Given the description of an element on the screen output the (x, y) to click on. 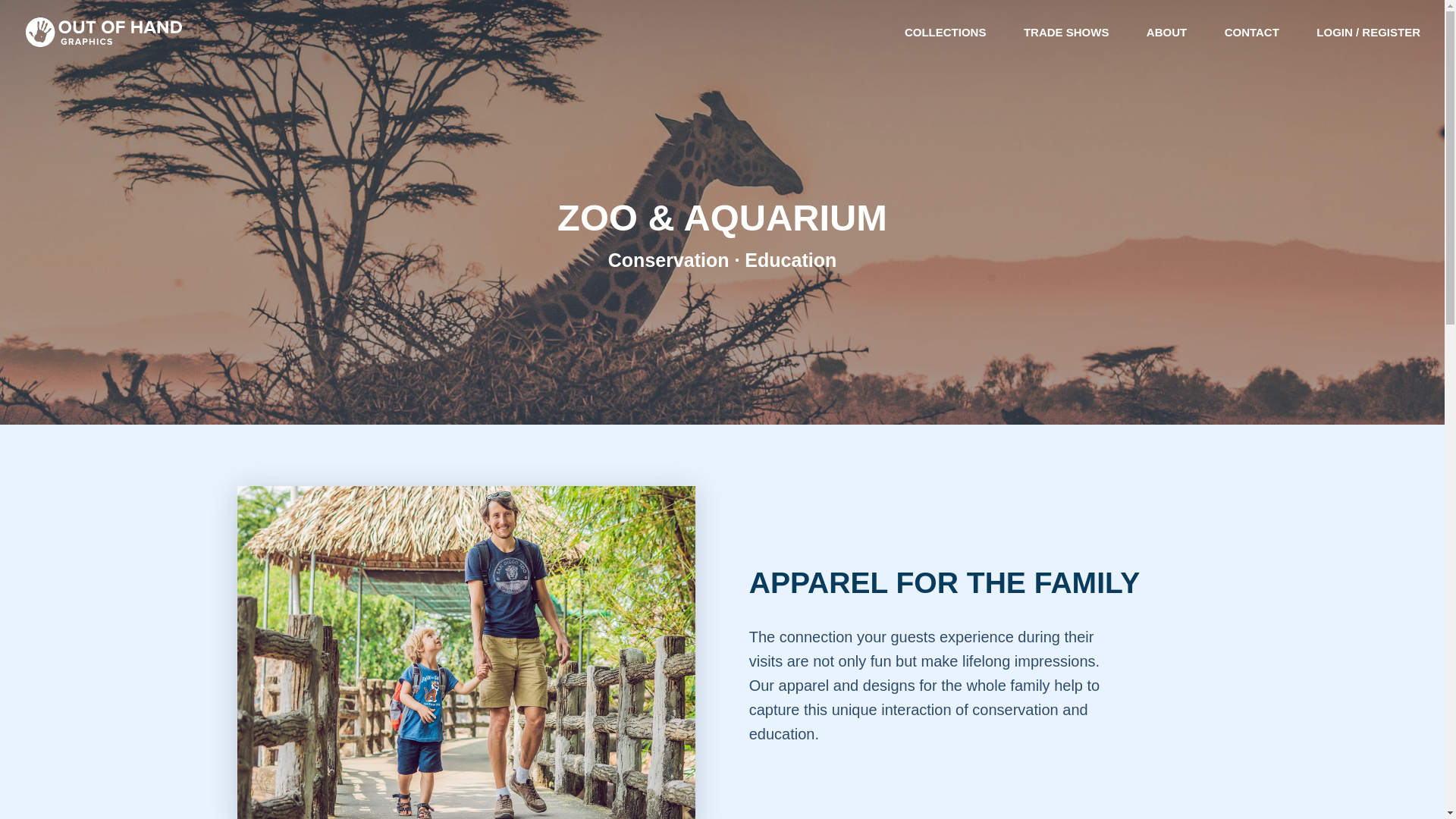
ABOUT (1166, 45)
TRADE SHOWS (1066, 45)
COLLECTIONS (945, 45)
CONTACT (1251, 45)
